Given the description of an element on the screen output the (x, y) to click on. 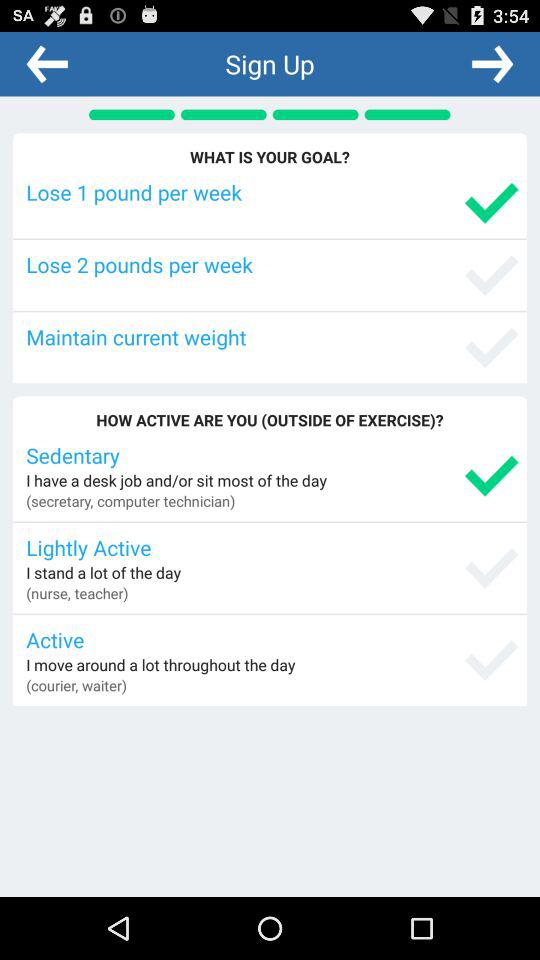
autoplay option (492, 63)
